Given the description of an element on the screen output the (x, y) to click on. 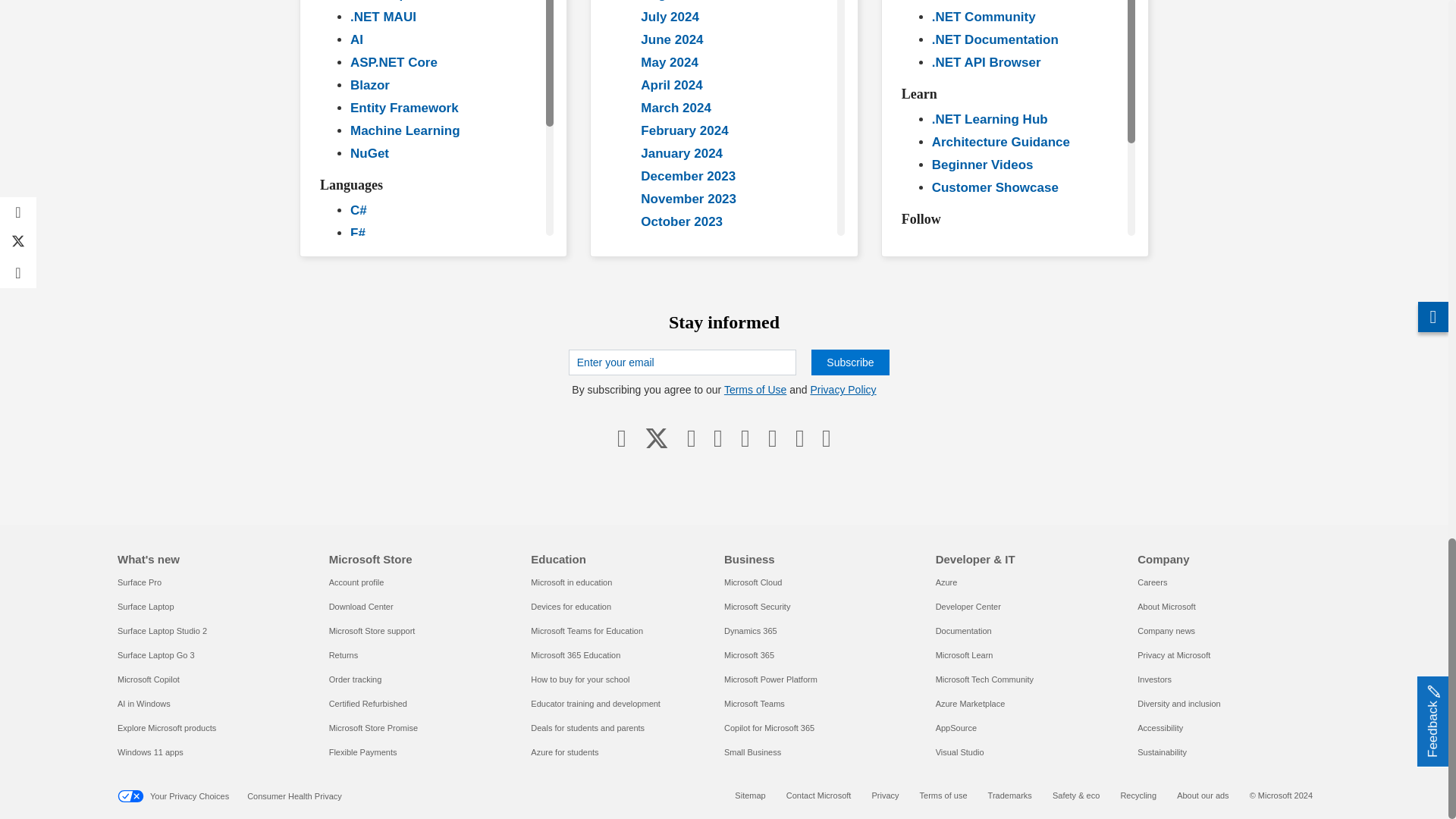
RSS Feed (826, 437)
GitHub (772, 437)
twitter (656, 437)
Stackoverflow (799, 437)
youtube (718, 437)
twitch (745, 437)
facebook (621, 437)
Subscribe (849, 362)
linkedin (691, 437)
